Given the description of an element on the screen output the (x, y) to click on. 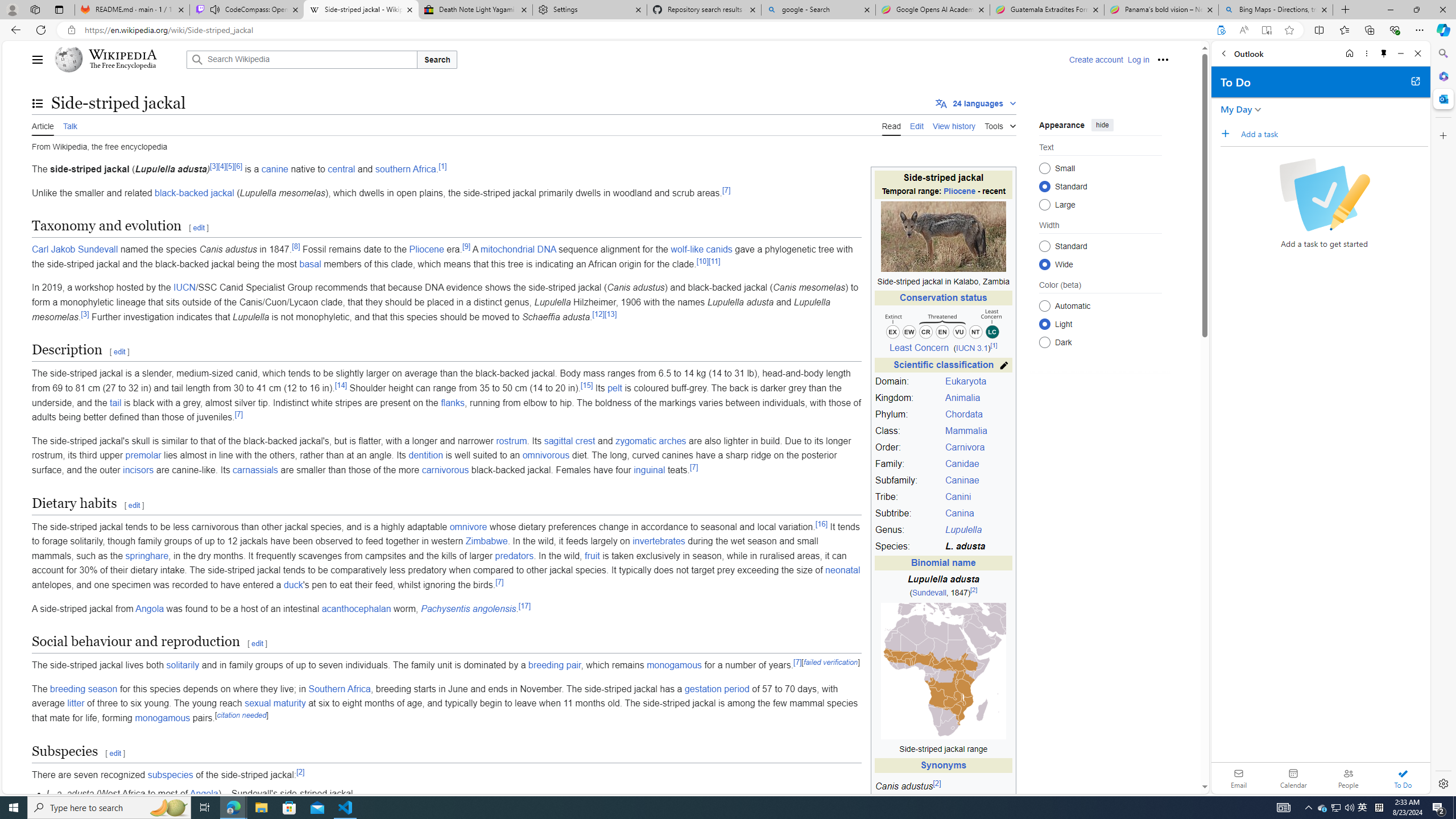
View history (954, 124)
Add a task (1334, 133)
Mute tab (215, 8)
Synonyms (943, 765)
[5] (229, 165)
Animalia (977, 398)
[10] (702, 260)
Side-striped jackal - Wikipedia (360, 9)
Log in (1137, 58)
sagittal crest (569, 440)
Canina (977, 513)
Canina (959, 513)
incisors (138, 469)
